Given the description of an element on the screen output the (x, y) to click on. 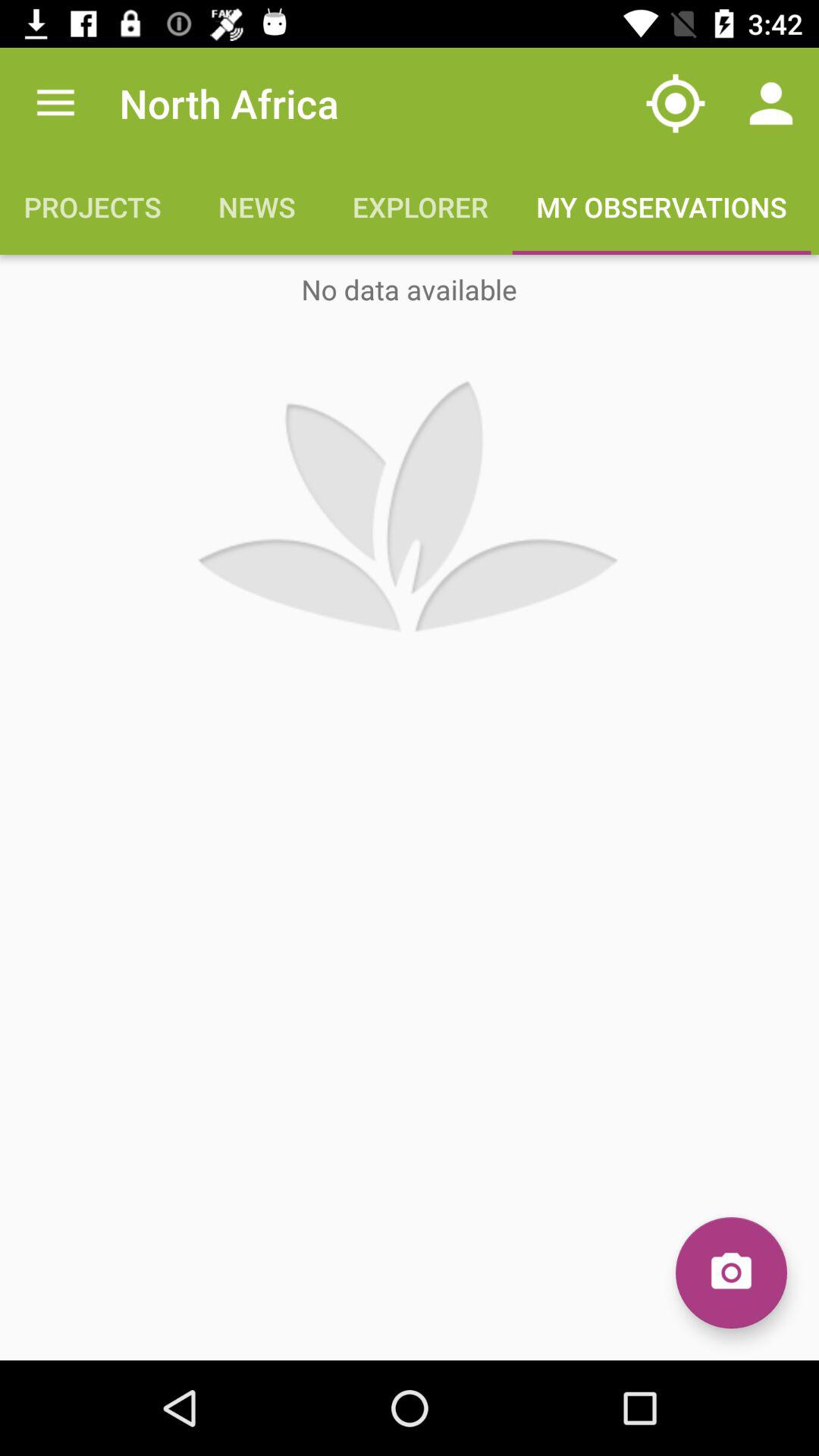
click item to the left of north africa app (55, 103)
